Given the description of an element on the screen output the (x, y) to click on. 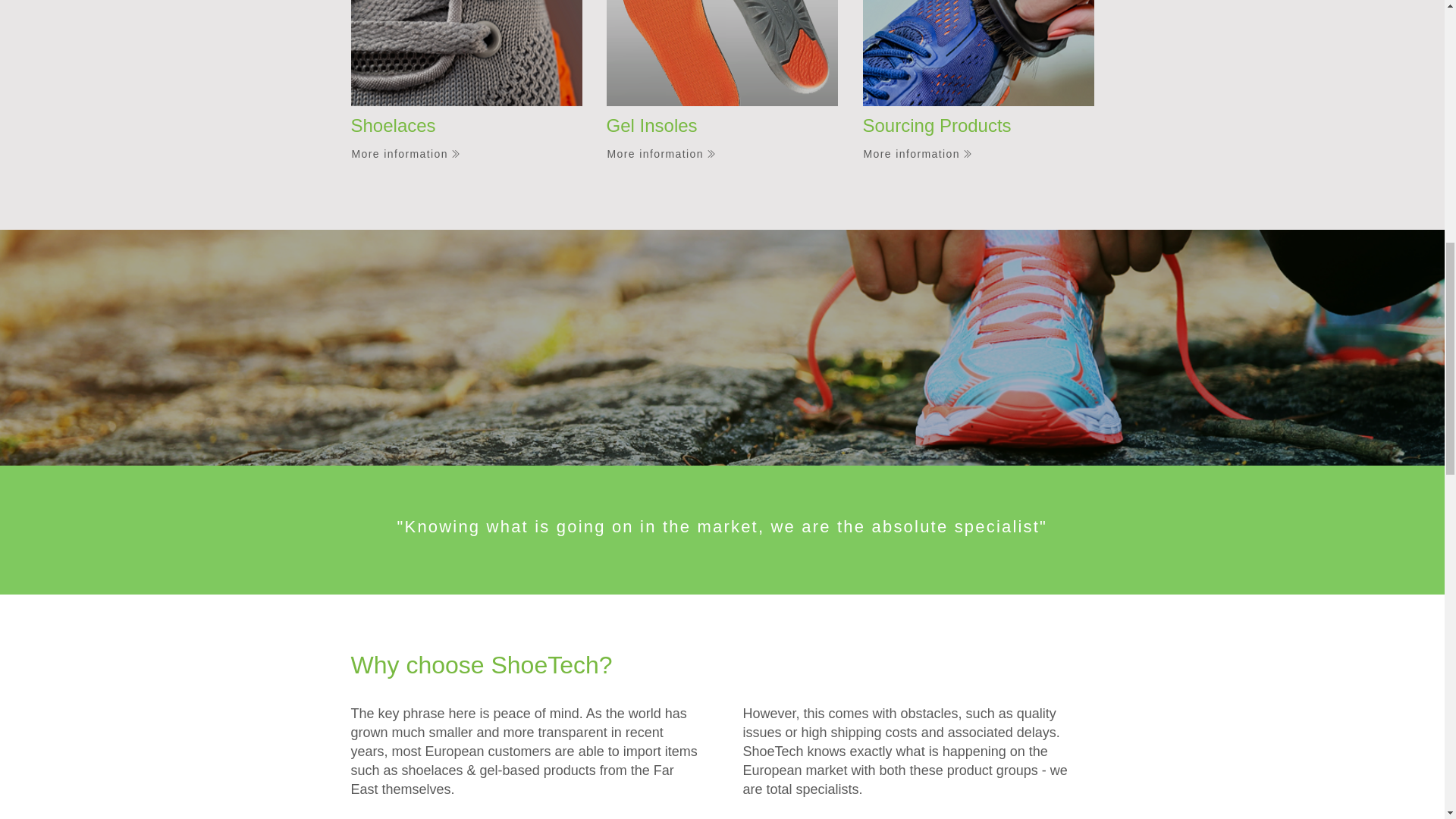
Weg Van Het platteland (465, 53)
Weg Van Het platteland (722, 53)
More information (927, 153)
More information (415, 153)
Readmore (807, 817)
Weg Van Het platteland (978, 53)
More information (671, 153)
